Given the description of an element on the screen output the (x, y) to click on. 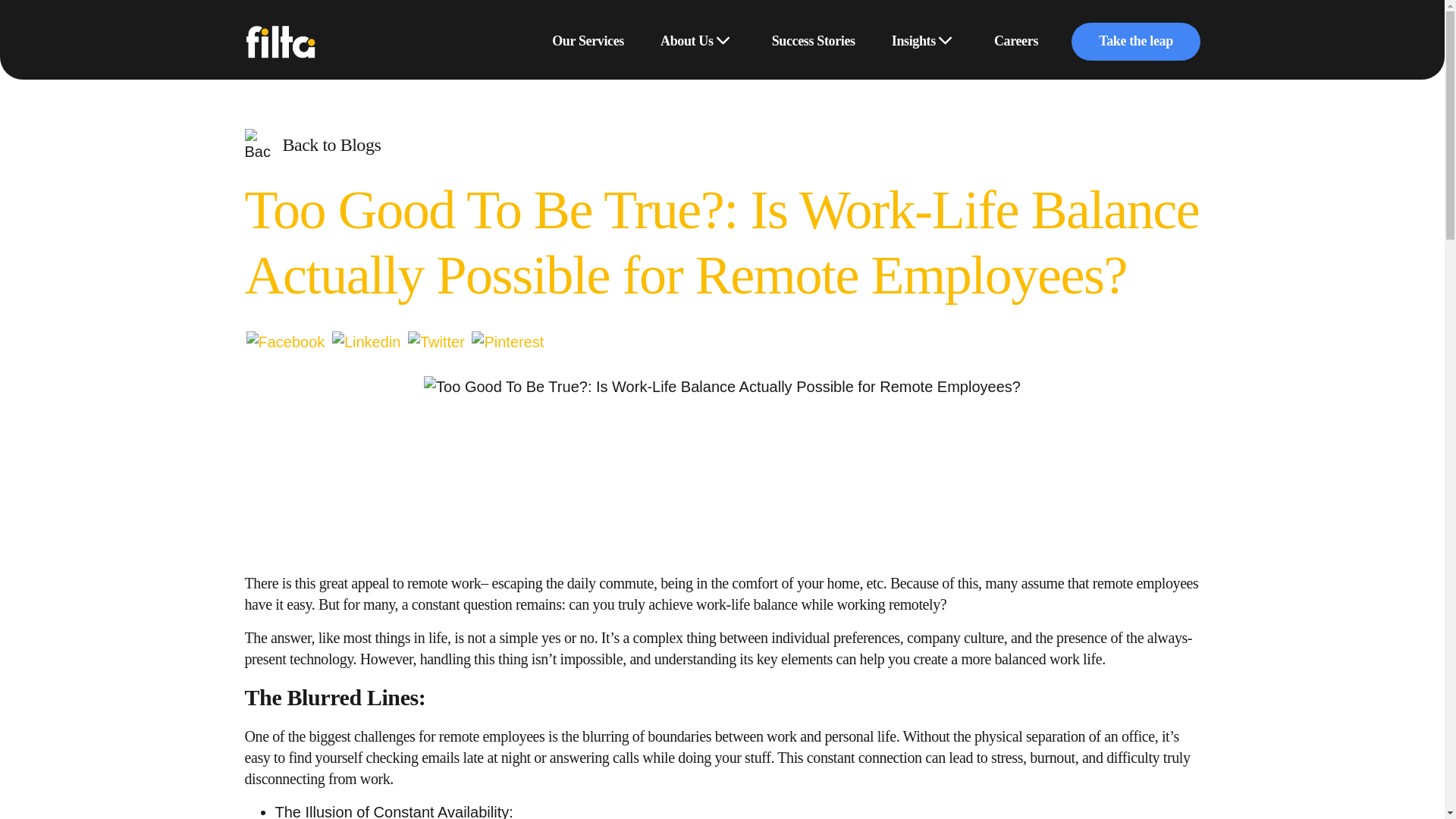
Success Stories (813, 41)
Take the leap (1134, 41)
Back to Blogs (312, 145)
Careers (1015, 41)
Insights (913, 41)
Our Services (588, 41)
About Us (686, 41)
